Given the description of an element on the screen output the (x, y) to click on. 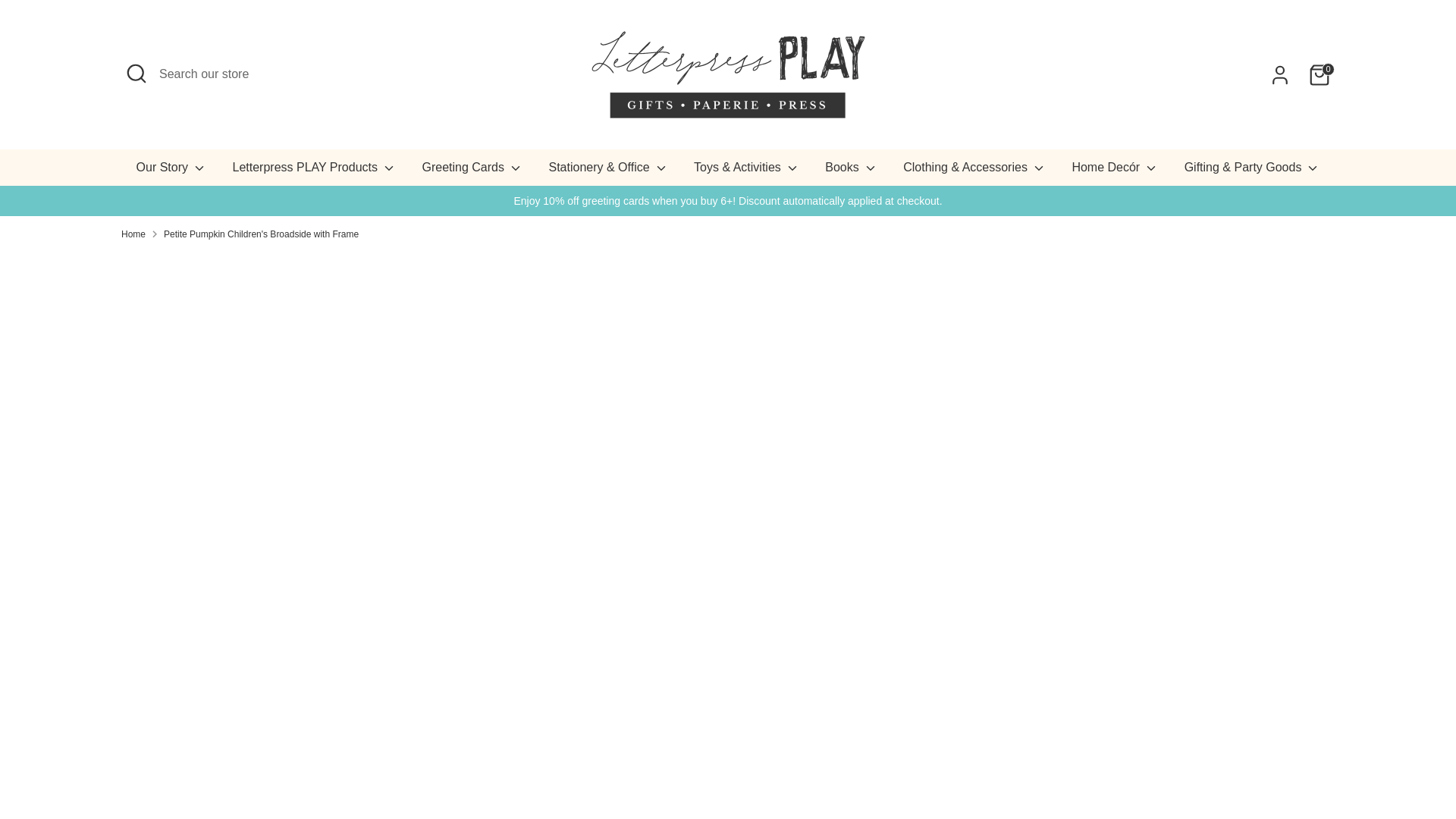
0 (1319, 73)
